Given the description of an element on the screen output the (x, y) to click on. 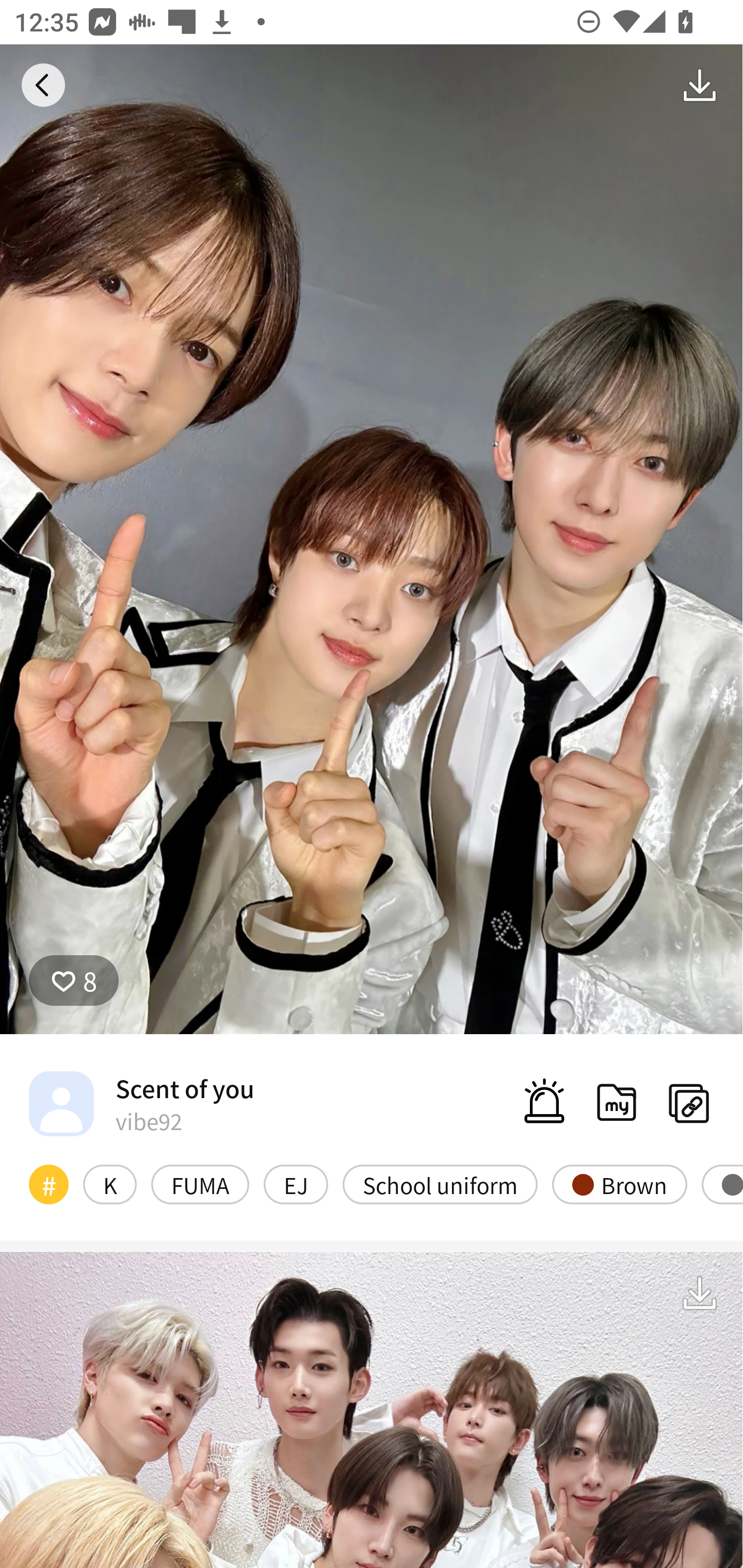
8 (73, 980)
Scent of you vibe92 (141, 1102)
K (109, 1184)
FUMA (199, 1184)
EJ (295, 1184)
School uniform (439, 1184)
Brown (619, 1184)
